Given the description of an element on the screen output the (x, y) to click on. 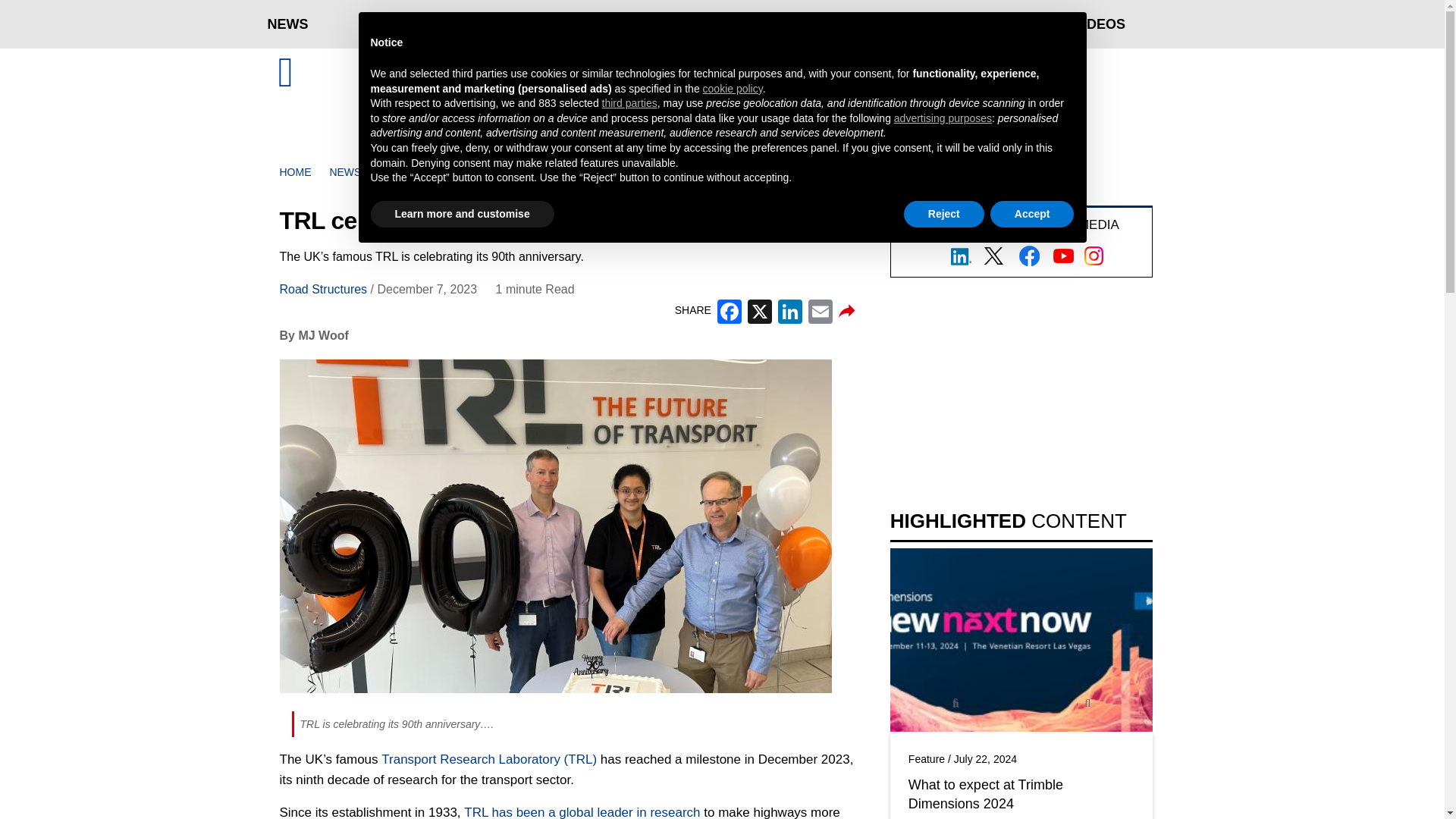
Trimble Dimensions 2024 (1021, 639)
3rd party ad content (721, 74)
NEWS (286, 24)
info ABOUT US (309, 15)
Home (722, 72)
VIDEOS (1099, 24)
MAGAZINE (985, 24)
PRODUCTS (397, 24)
search SEARCH (1129, 15)
FEATURES (523, 24)
3rd party ad content (1021, 387)
